Given the description of an element on the screen output the (x, y) to click on. 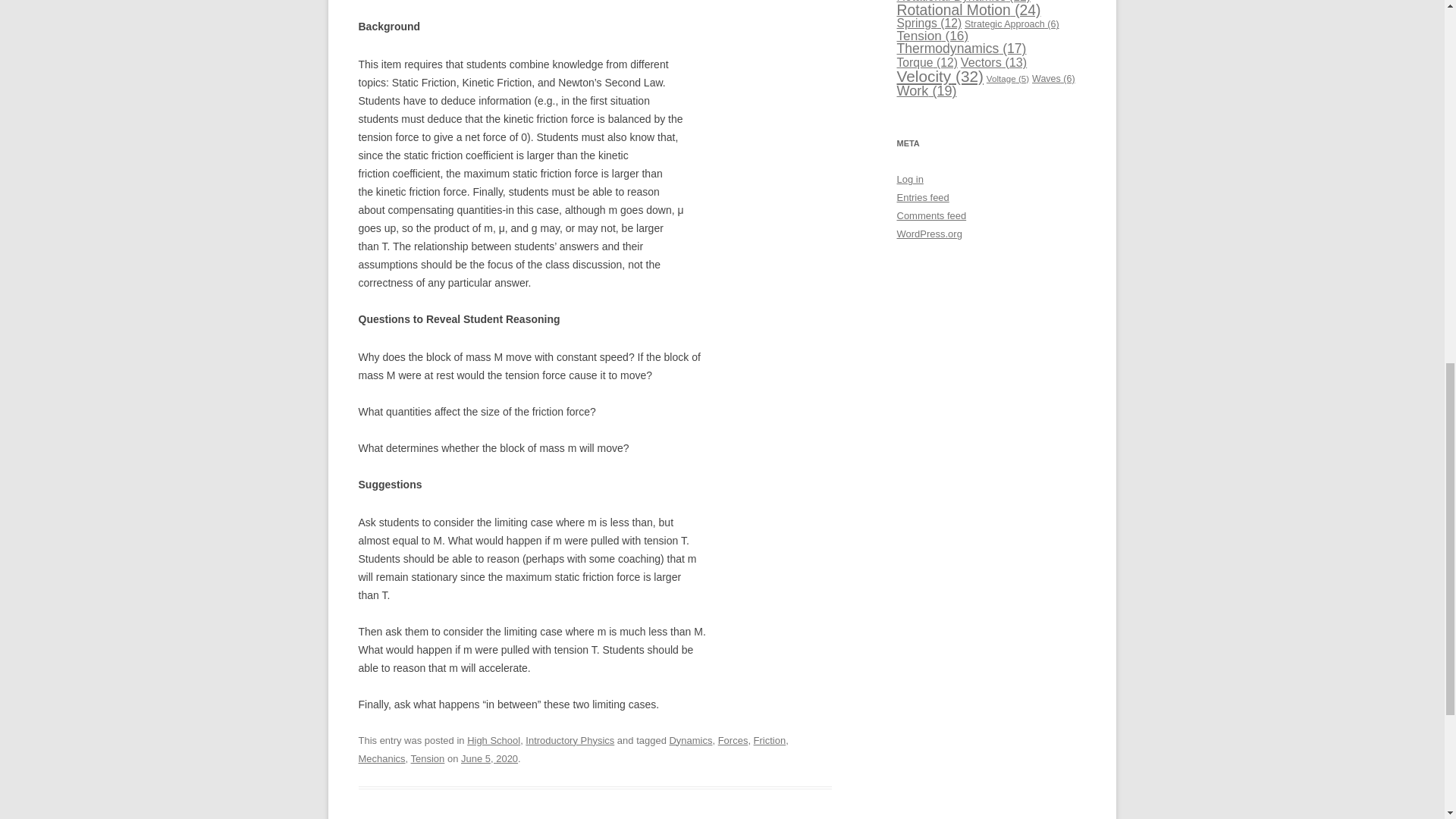
Mechanics (381, 758)
Introductory Physics (569, 740)
June 5, 2020 (489, 758)
Tension (427, 758)
High School (493, 740)
Dynamics (689, 740)
Forces (732, 740)
3:05 PM (489, 758)
Friction (770, 740)
